Given the description of an element on the screen output the (x, y) to click on. 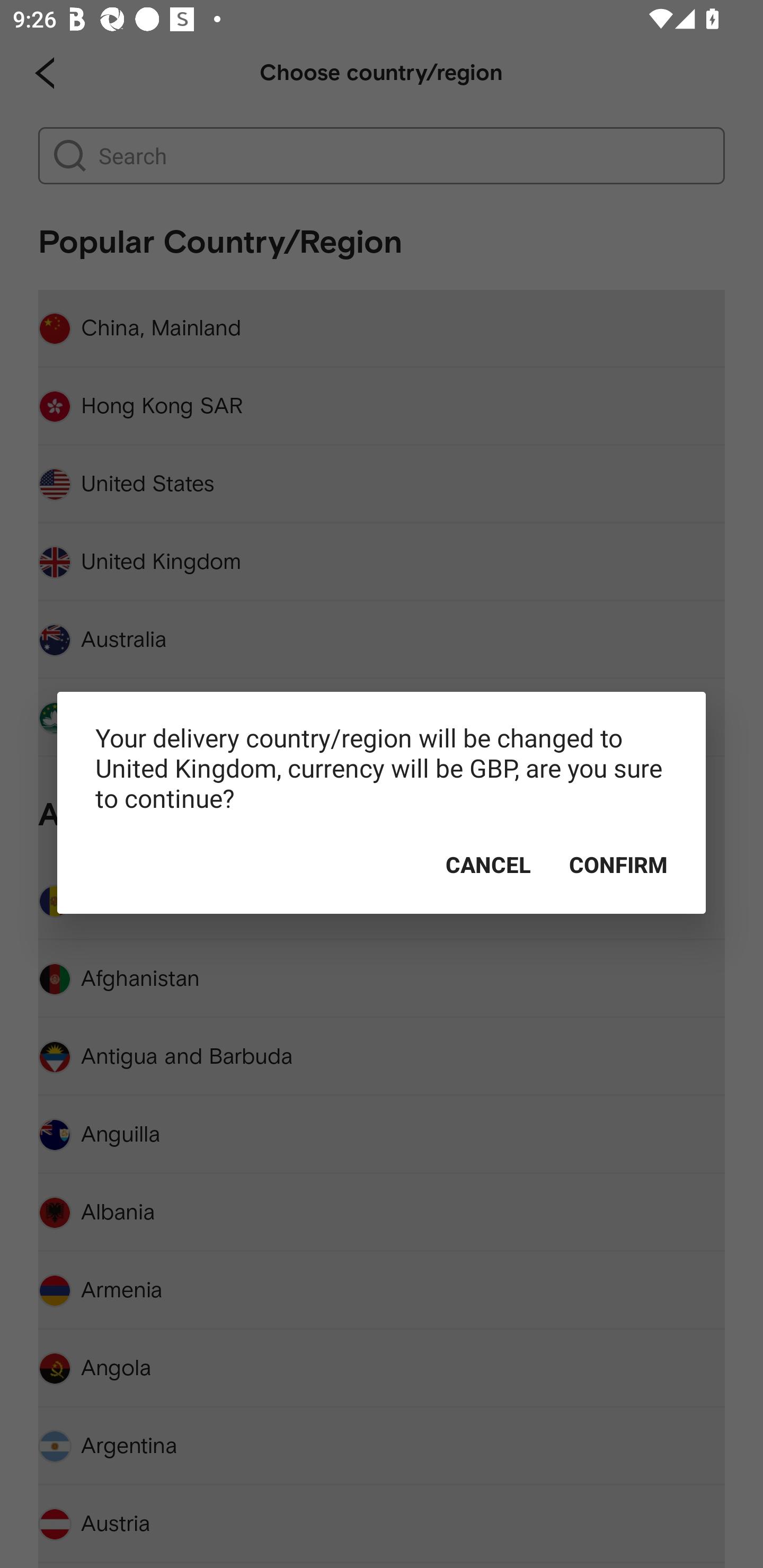
CANCEL (488, 864)
CONFIRM (618, 864)
